Given the description of an element on the screen output the (x, y) to click on. 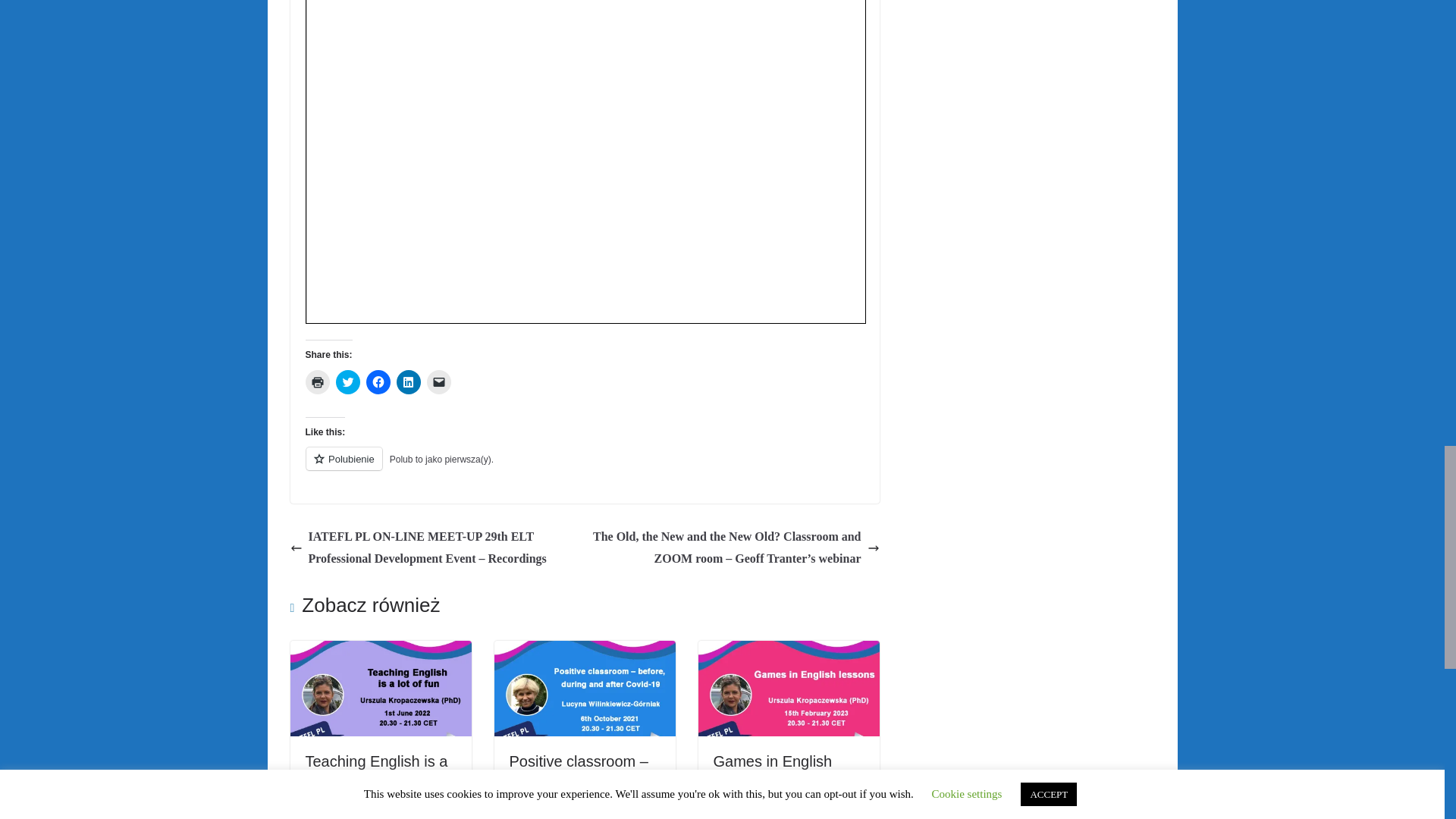
Click to share on Facebook (377, 381)
Click to share on Twitter (346, 381)
Click to share on LinkedIn (408, 381)
Click to print (316, 381)
